Given the description of an element on the screen output the (x, y) to click on. 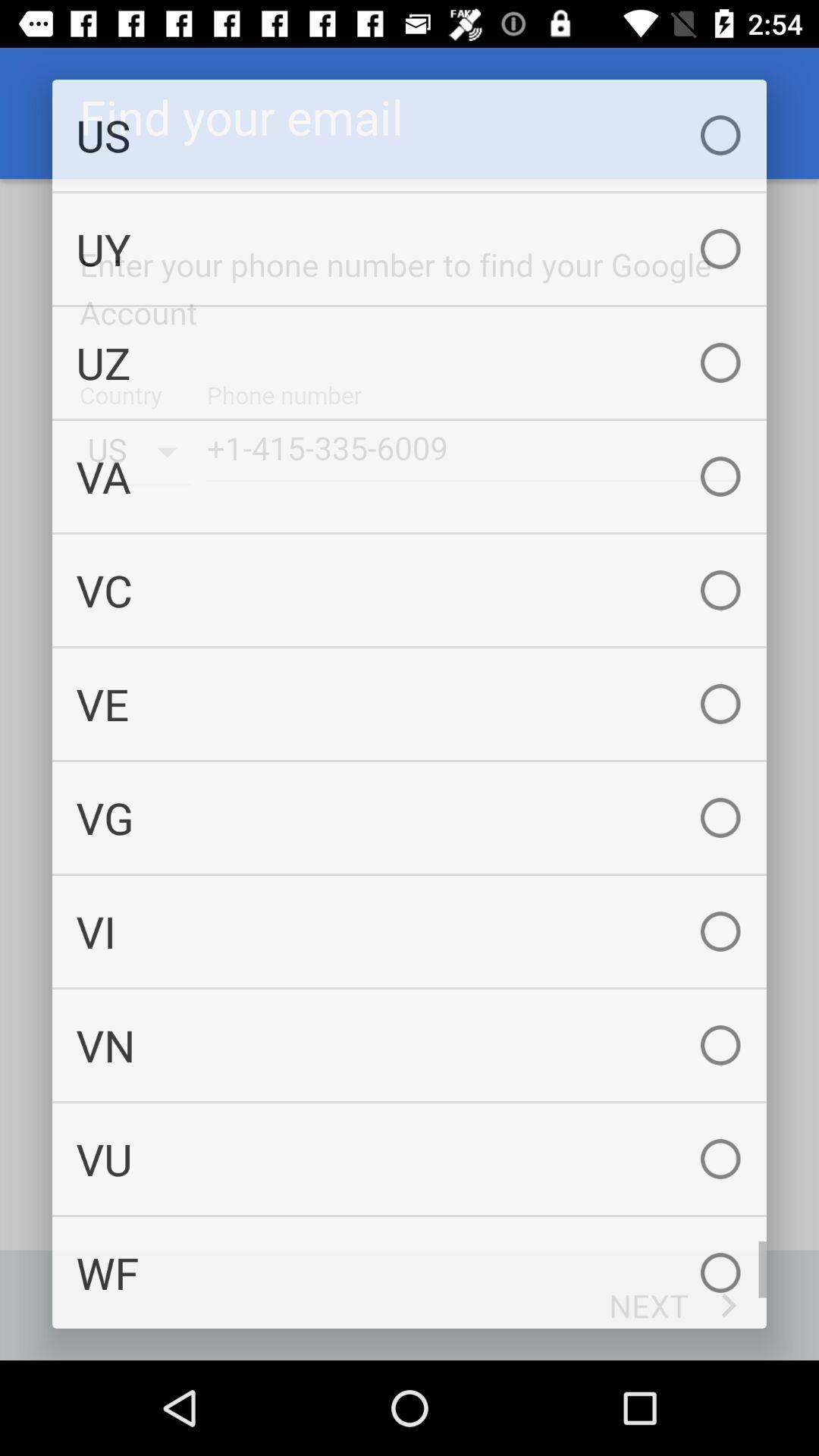
select the us icon (409, 135)
